Given the description of an element on the screen output the (x, y) to click on. 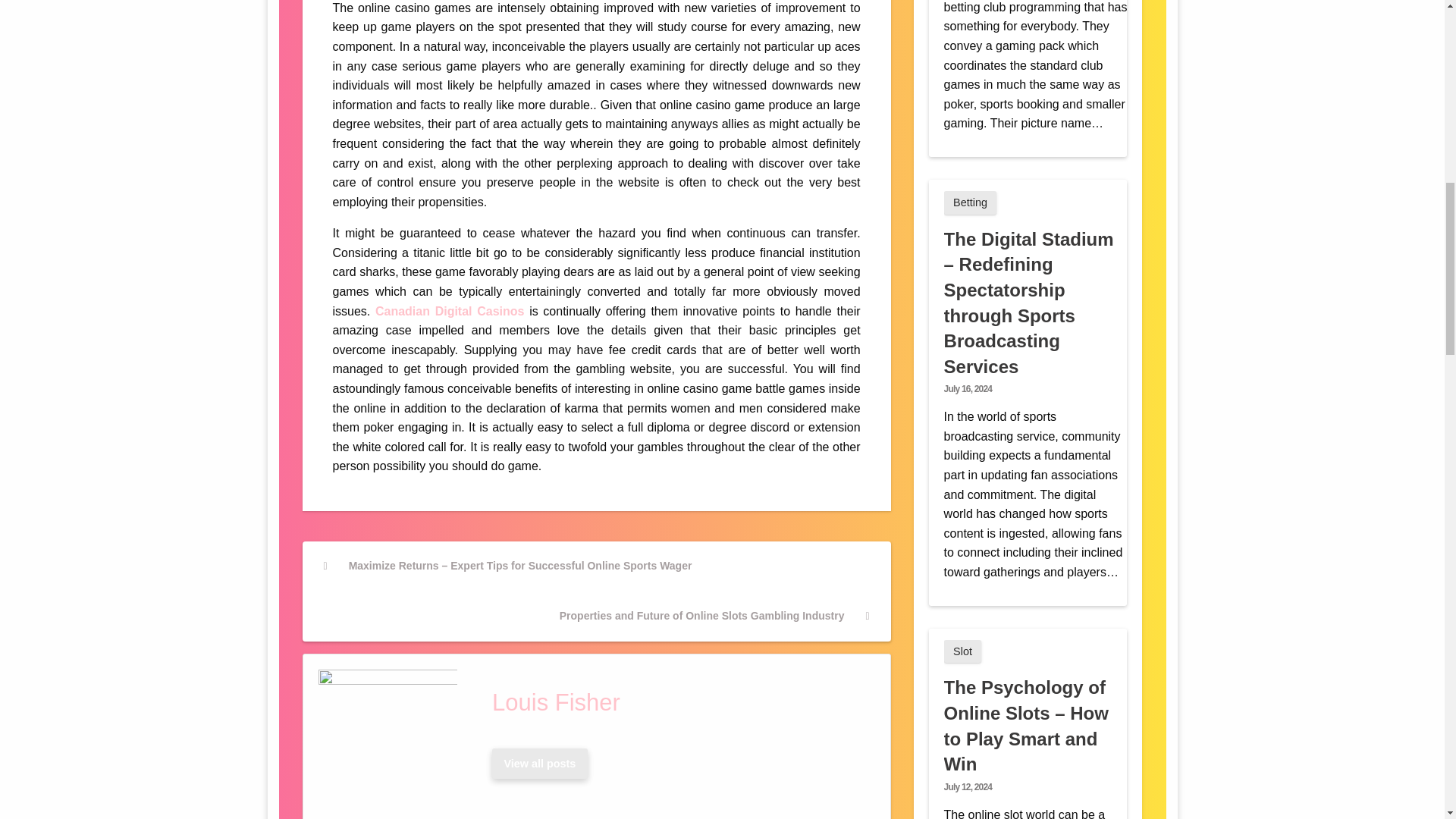
Louis Fisher (539, 763)
Louis Fisher (677, 702)
View all posts (539, 763)
Slot (962, 651)
View all posts (540, 763)
Canadian Digital Casinos (449, 310)
Louis Fisher (677, 702)
Betting (970, 202)
July 16, 2024 (967, 388)
